Given the description of an element on the screen output the (x, y) to click on. 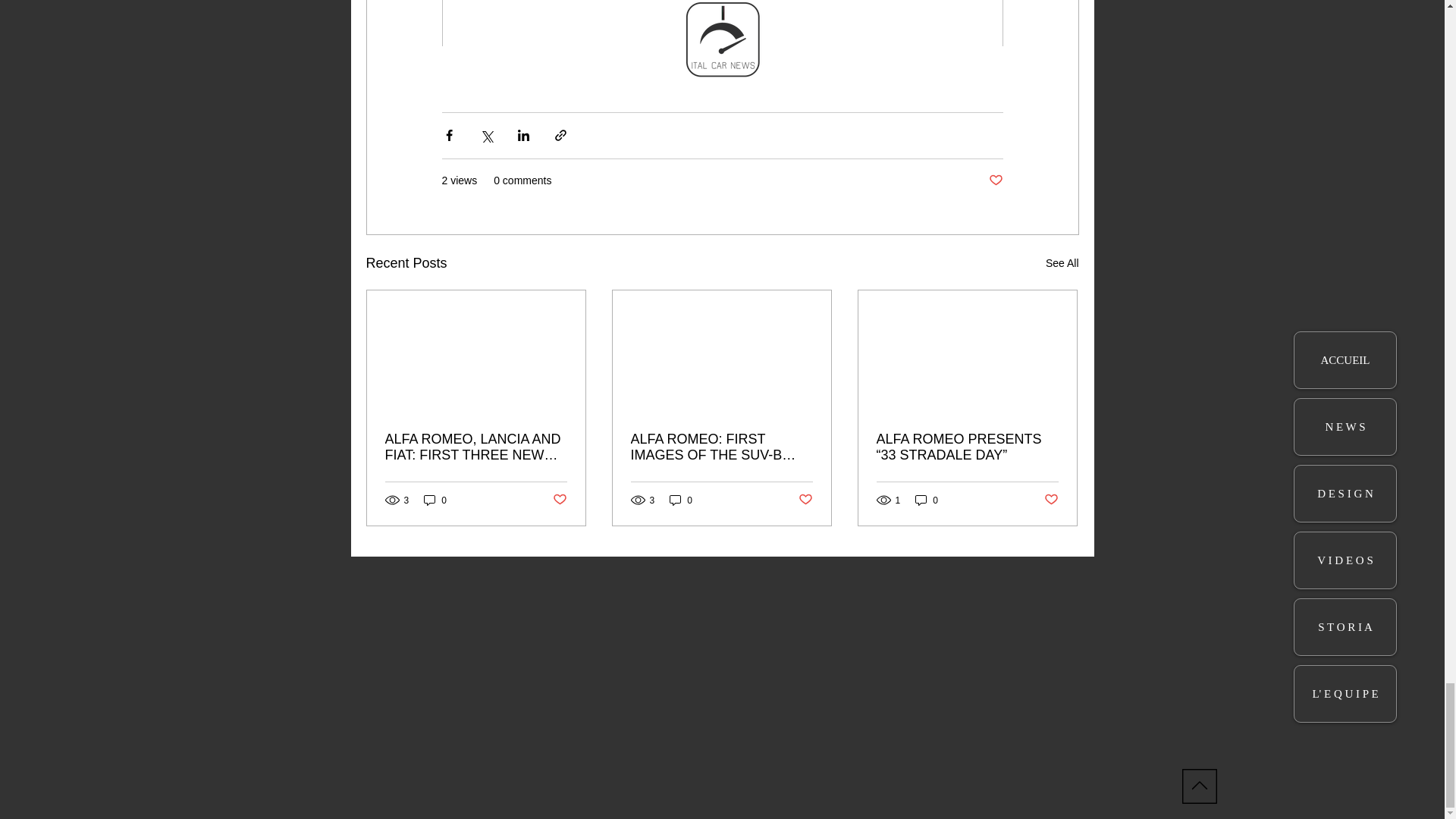
0 (926, 499)
Post not marked as liked (1050, 499)
Post not marked as liked (995, 180)
See All (1061, 263)
Post not marked as liked (558, 499)
ALFA ROMEO: FIRST IMAGES OF THE SUV-B FOR SEPTEMBER? (721, 447)
0 (681, 499)
Post not marked as liked (804, 499)
0 (435, 499)
